Given the description of an element on the screen output the (x, y) to click on. 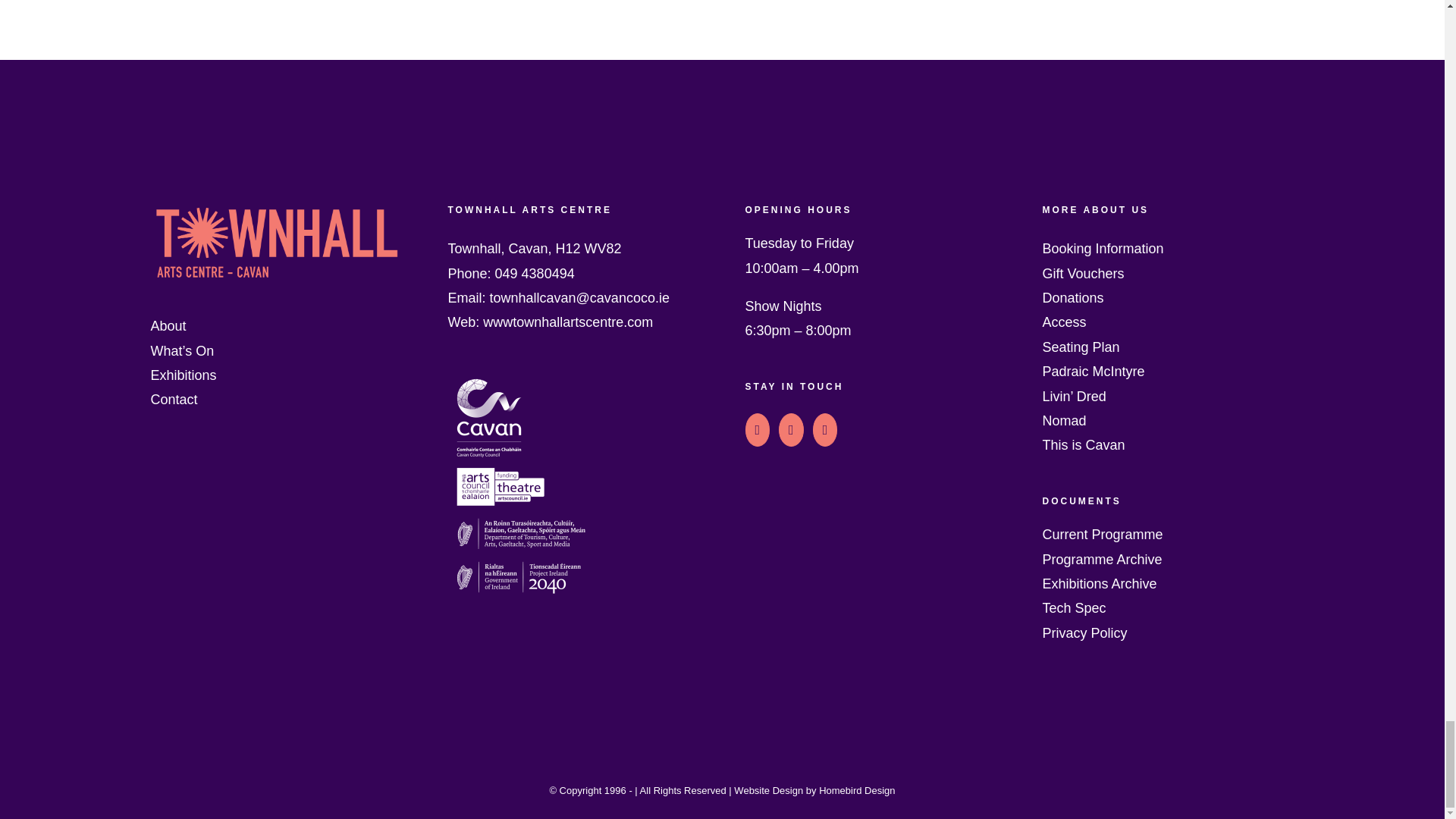
Padraic McIntyre (1168, 371)
Access (1168, 322)
Booking Information (1168, 248)
Contact (275, 399)
Seating Plan (1168, 346)
Gift Vouchers (1168, 273)
Exhibitions (275, 375)
wwwtownhallartscentre.com (567, 322)
Donations (1168, 297)
049 4380494 (535, 273)
